Given the description of an element on the screen output the (x, y) to click on. 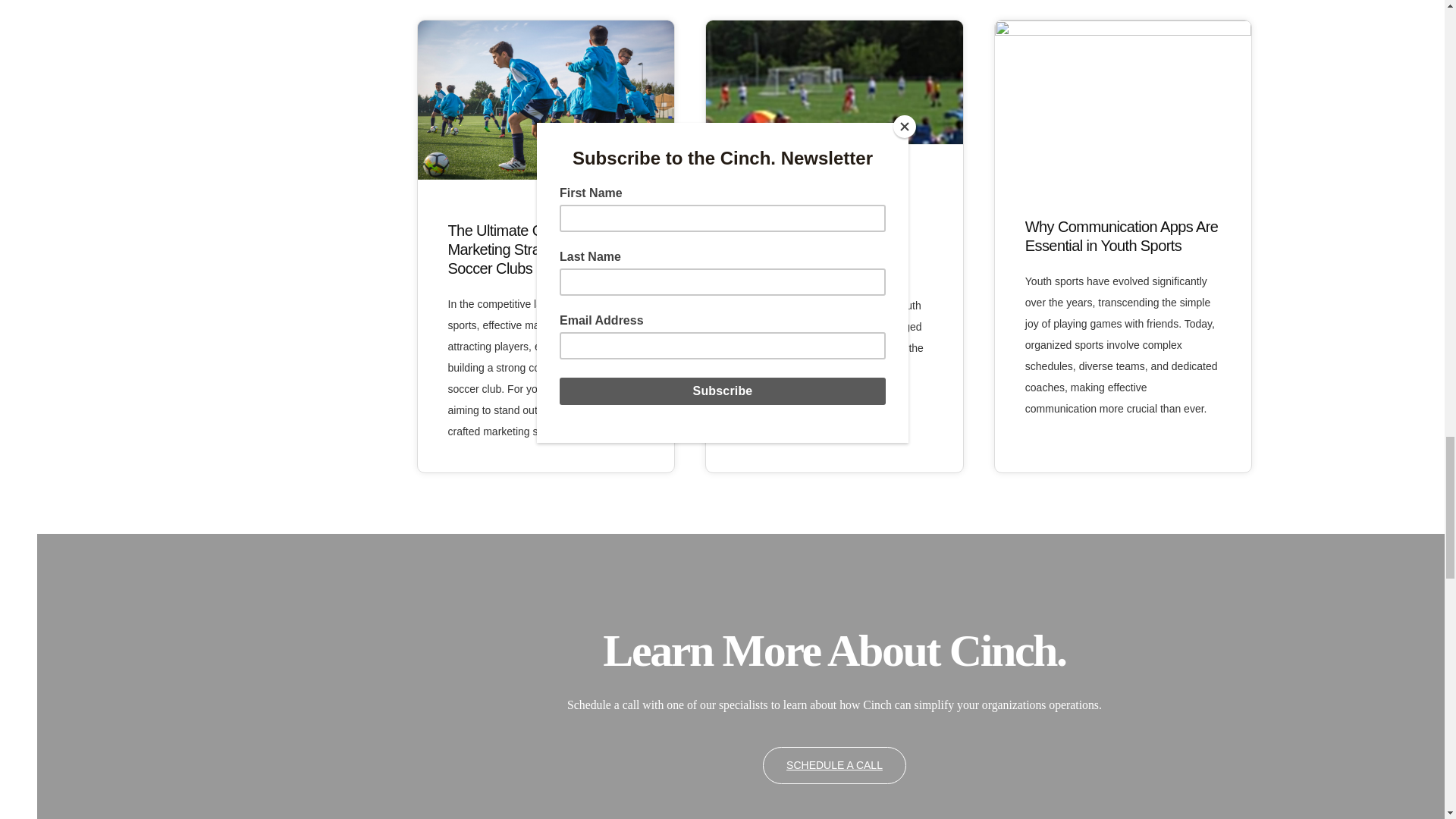
How Mobile Technology is Changing Youth Sports (834, 332)
